Given the description of an element on the screen output the (x, y) to click on. 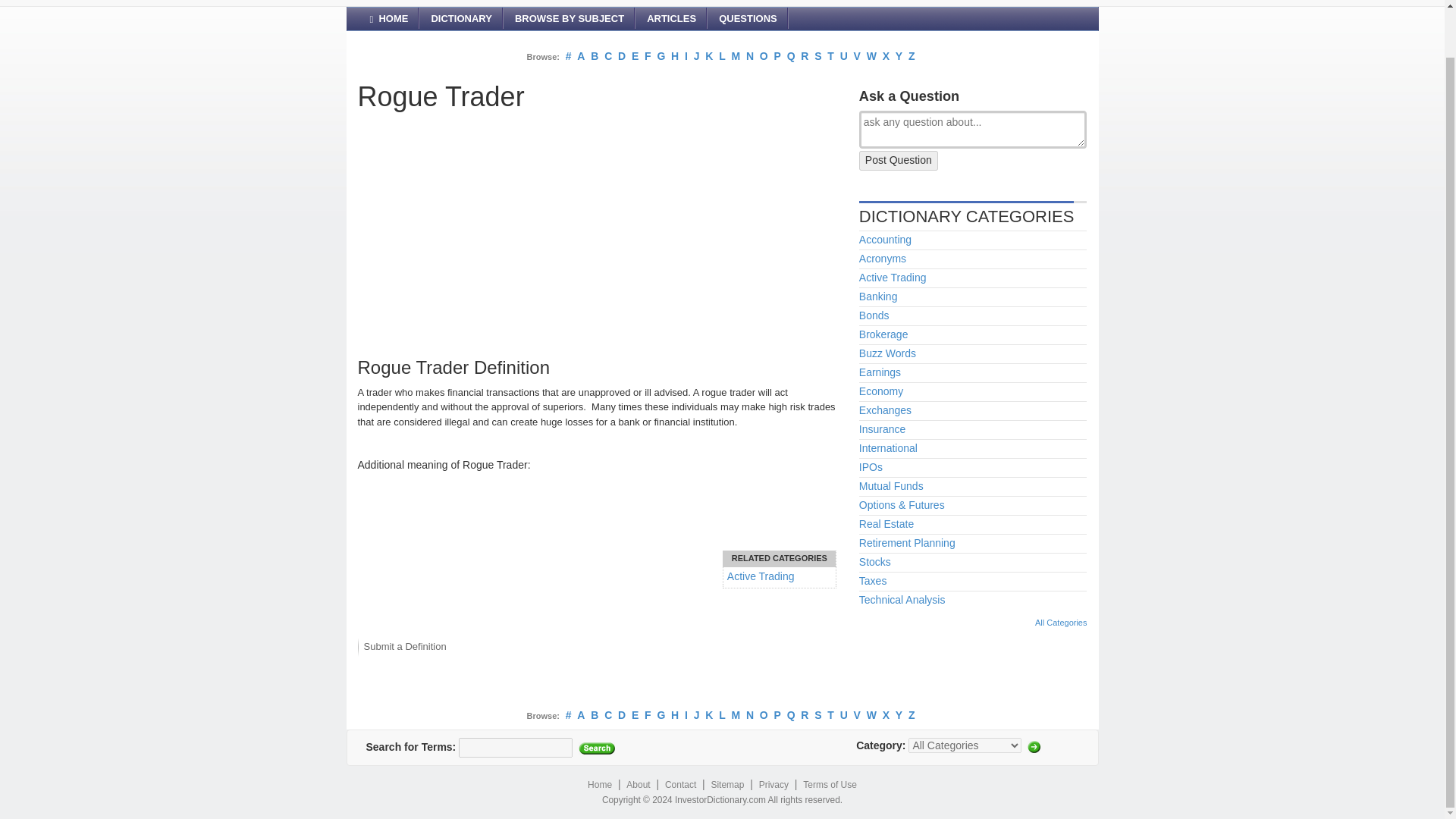
C (607, 55)
J (697, 55)
BROWSE BY SUBJECT (568, 18)
K (708, 55)
D (621, 55)
Search (596, 748)
G (660, 55)
M (734, 55)
R (804, 55)
Post Question (898, 160)
E (635, 55)
H (674, 55)
A (580, 55)
Q (790, 55)
L (722, 55)
